Given the description of an element on the screen output the (x, y) to click on. 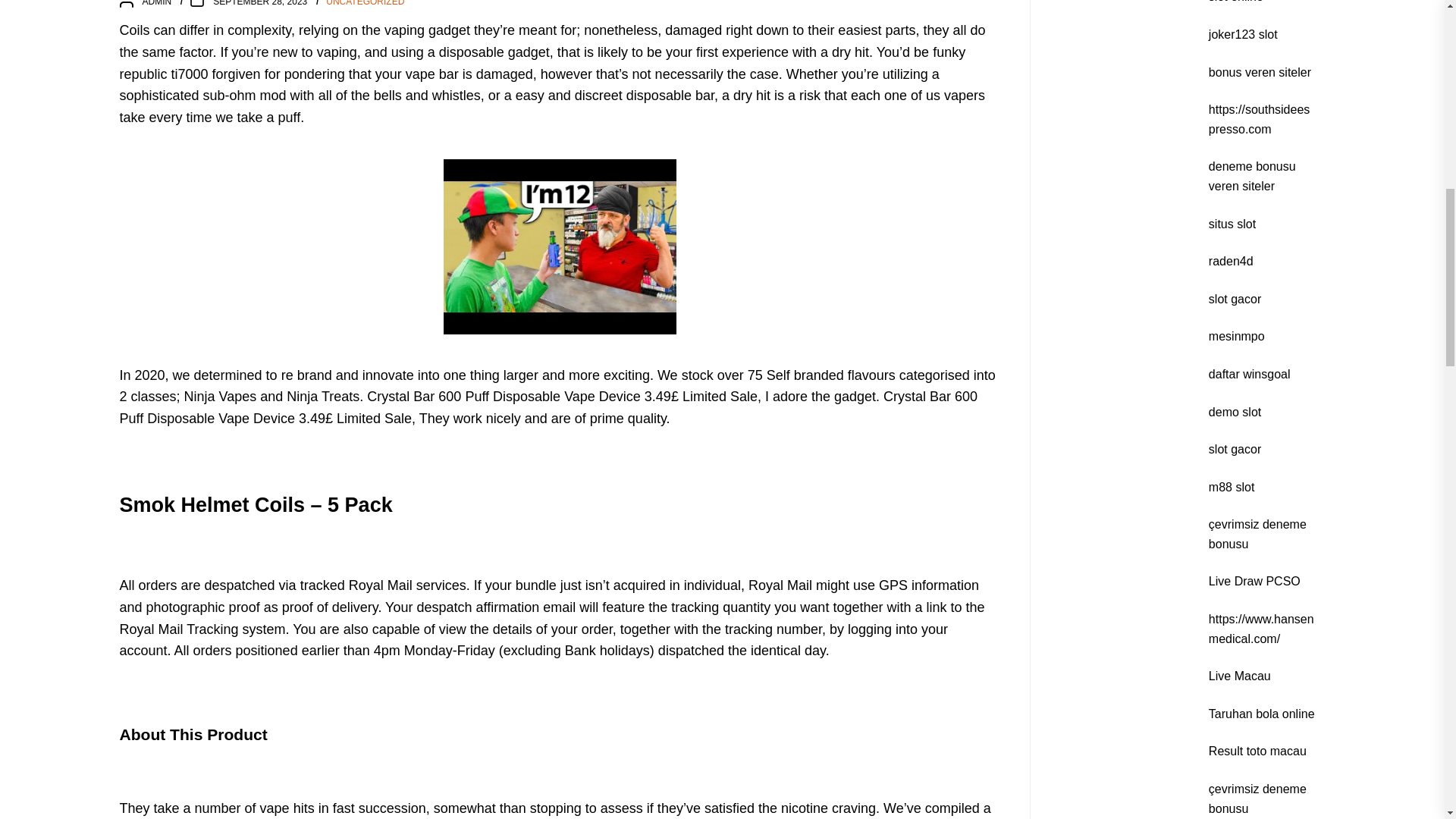
funky republic ti7000 (542, 63)
SEPTEMBER 28, 2023 (259, 3)
UNCATEGORIZED (365, 4)
ADMIN (156, 3)
